Given the description of an element on the screen output the (x, y) to click on. 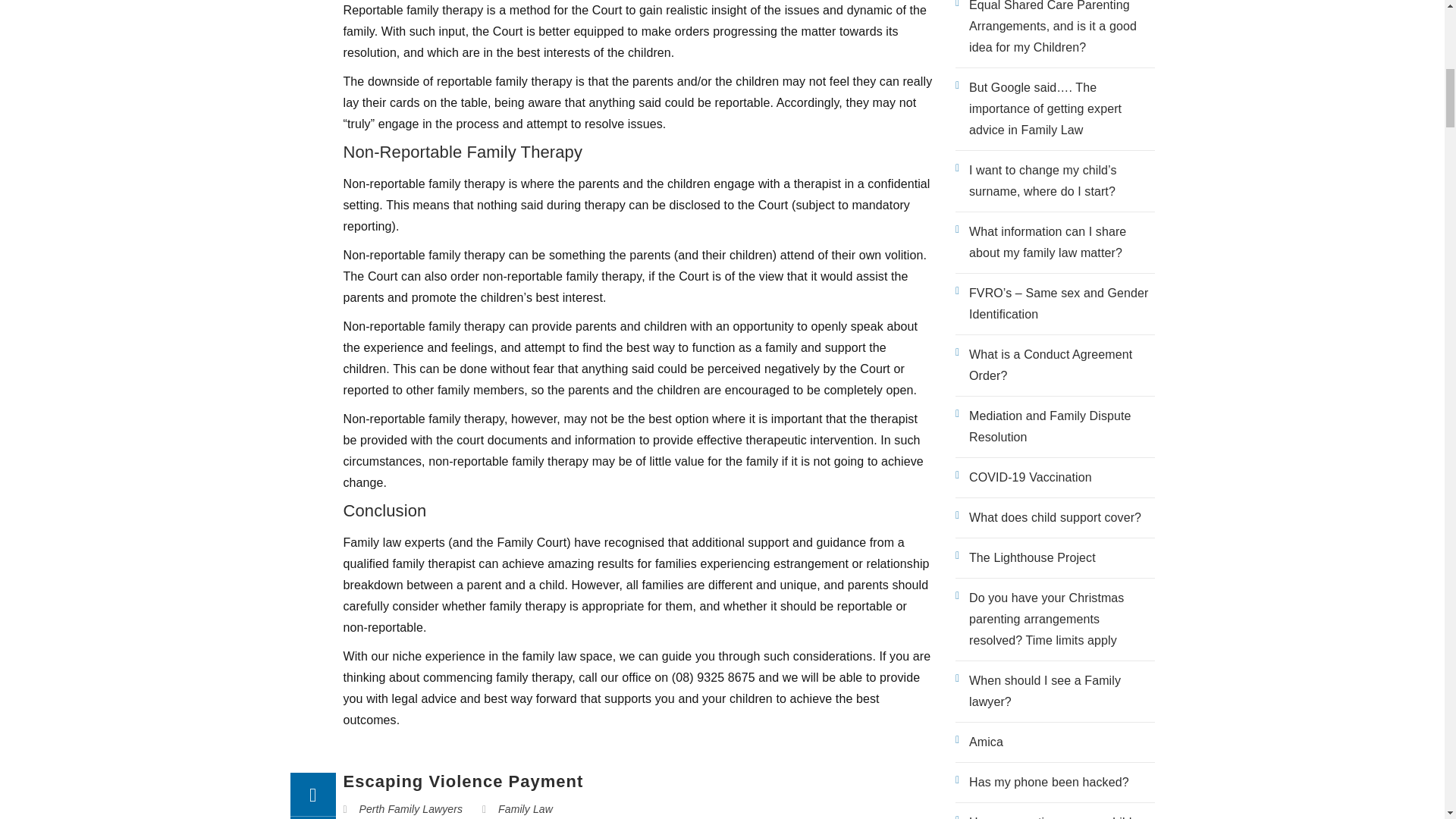
Perth Family Lawyers (411, 808)
View all posts by Perth Family Lawyers (411, 808)
Escaping Violence Payment (462, 781)
Family Law (525, 808)
